Given the description of an element on the screen output the (x, y) to click on. 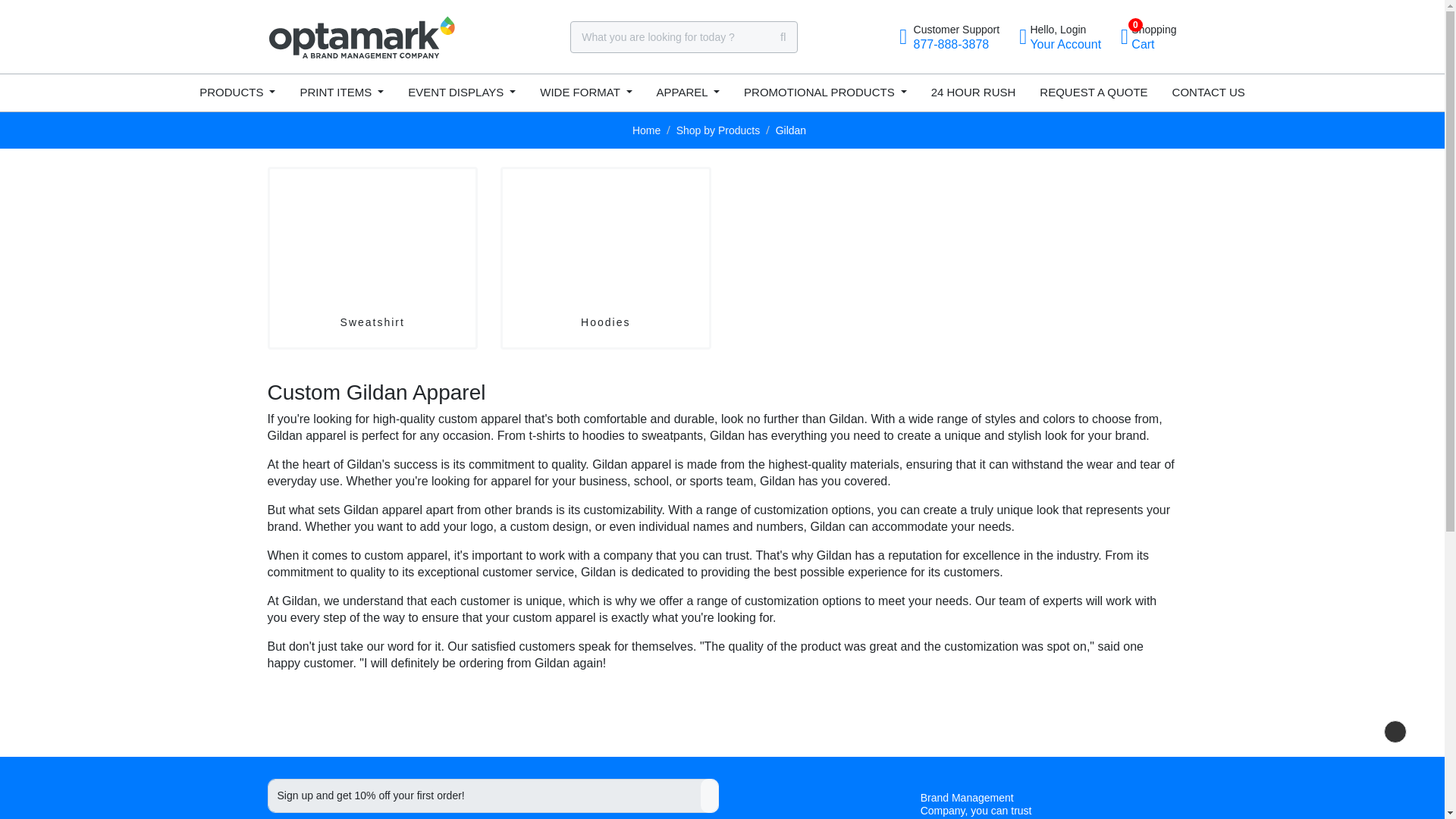
PRODUCTS (949, 36)
cart (236, 92)
Login (1147, 36)
8778883878 (1059, 36)
